Given the description of an element on the screen output the (x, y) to click on. 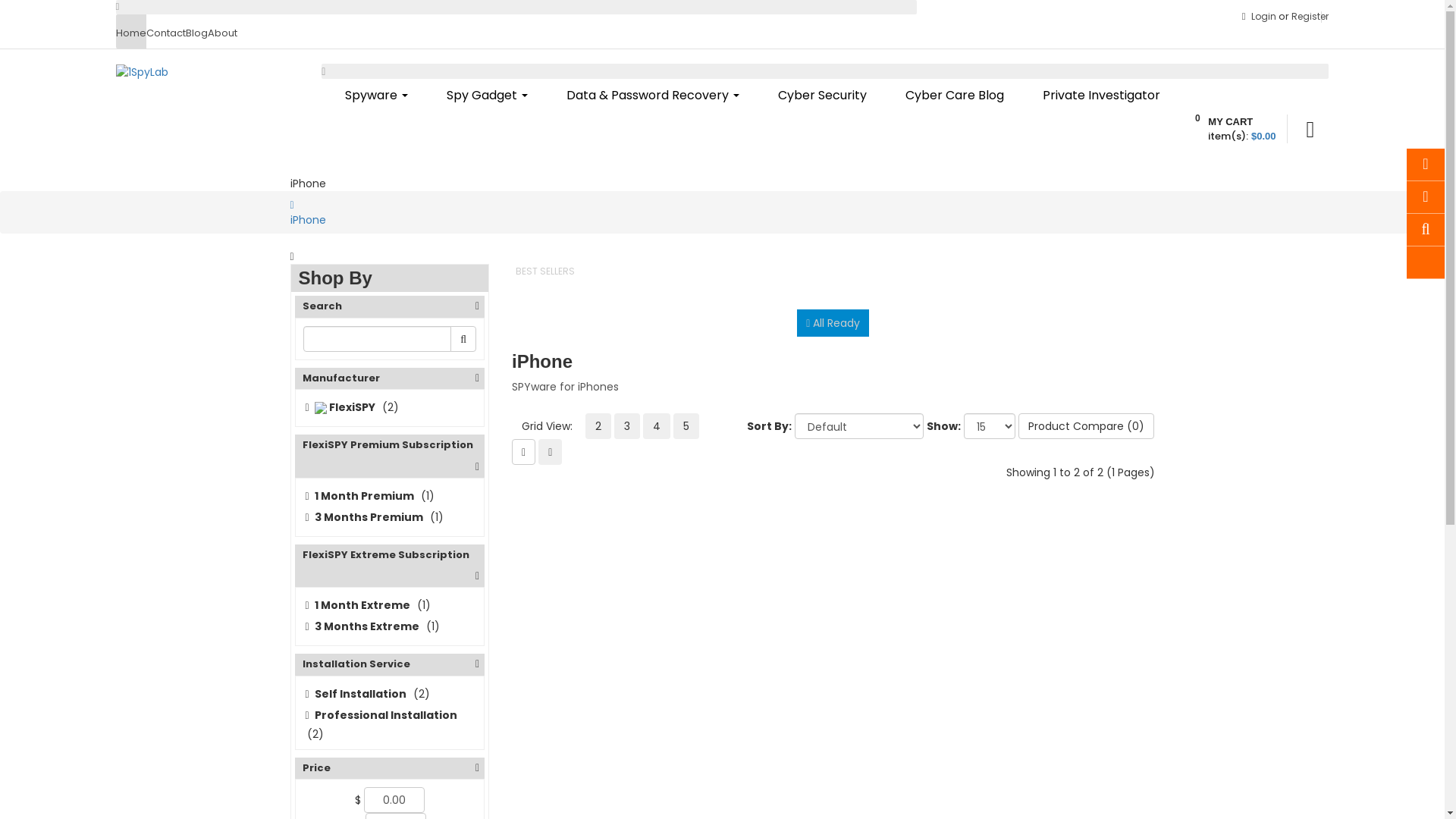
Contact Element type: text (165, 31)
Cyber Care Blog Element type: text (950, 95)
Blog Element type: text (196, 31)
3 Element type: text (627, 426)
4 Element type: text (656, 426)
Register Element type: text (1309, 15)
5 Element type: text (686, 426)
Spy Gadget Element type: text (482, 95)
Home Element type: text (130, 31)
2 Element type: text (598, 426)
MY CART
0
item(s): $0.00 Element type: text (1221, 129)
List Element type: hover (523, 451)
1SpyLab Element type: hover (141, 71)
Data & Password Recovery Element type: text (648, 95)
Cyber Security Element type: text (817, 95)
About Element type: text (222, 31)
Private Investigator Element type: text (1097, 95)
Login Element type: text (1264, 15)
Spyware Element type: text (372, 95)
Product Compare (0) Element type: text (1086, 426)
iPhone Element type: text (307, 219)
